Given the description of an element on the screen output the (x, y) to click on. 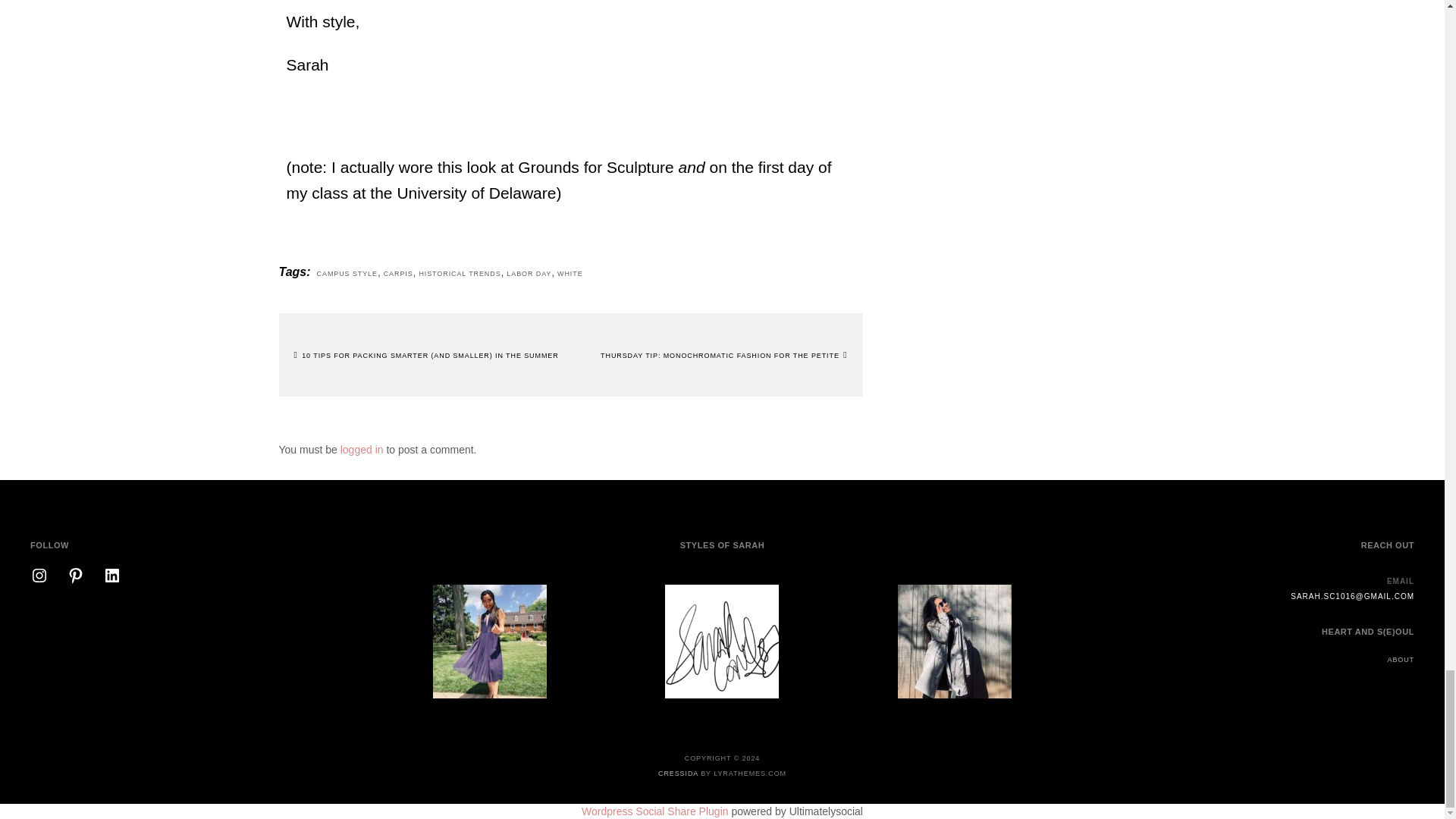
THURSDAY TIP: MONOCHROMATIC FASHION FOR THE PETITE (723, 355)
HISTORICAL TRENDS (459, 273)
WHITE (570, 273)
LABOR DAY (528, 273)
CAMPUS STYLE (347, 273)
CARPIS (398, 273)
